Given the description of an element on the screen output the (x, y) to click on. 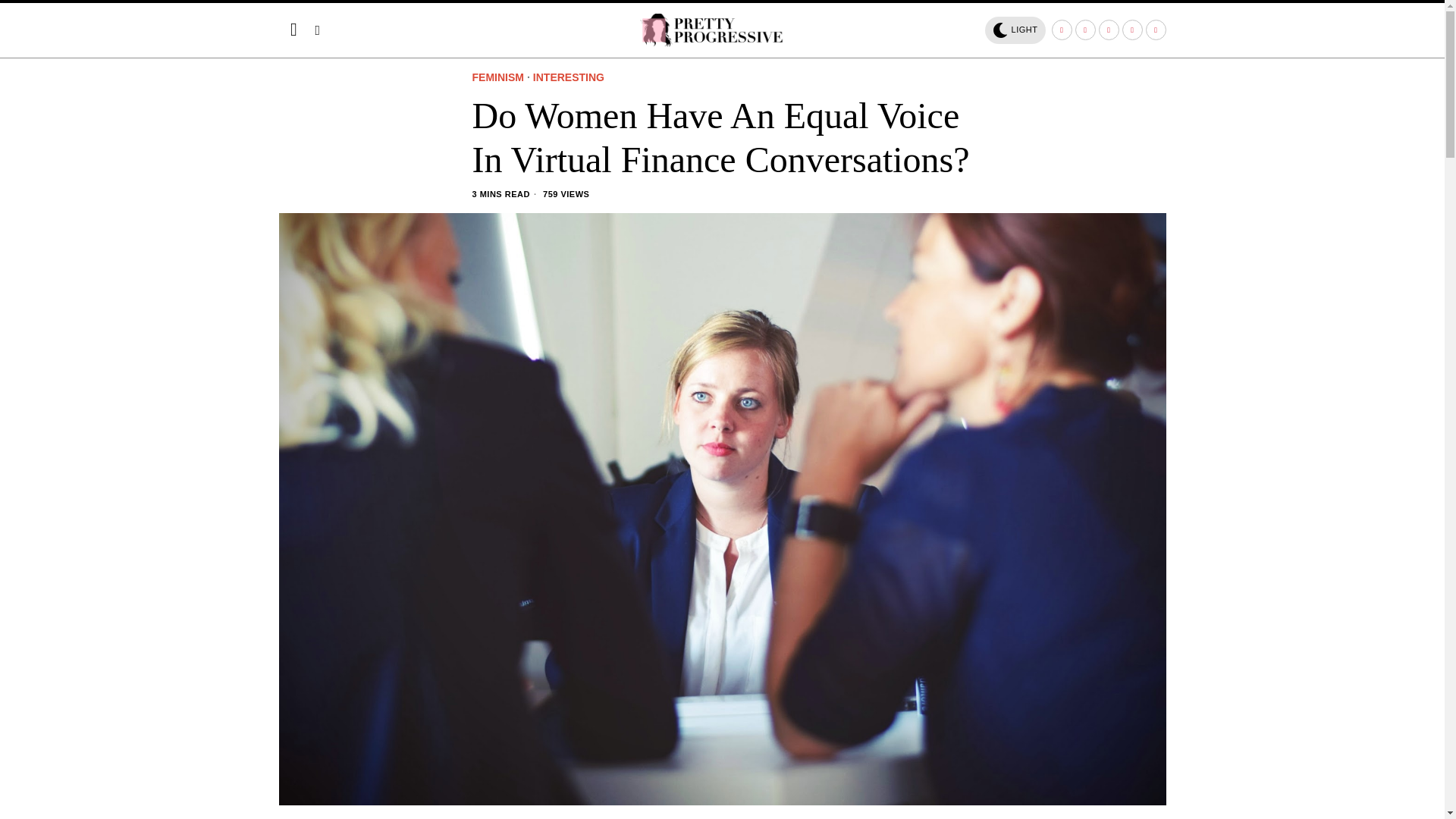
FEMINISM (496, 78)
INTERESTING (568, 78)
